Given the description of an element on the screen output the (x, y) to click on. 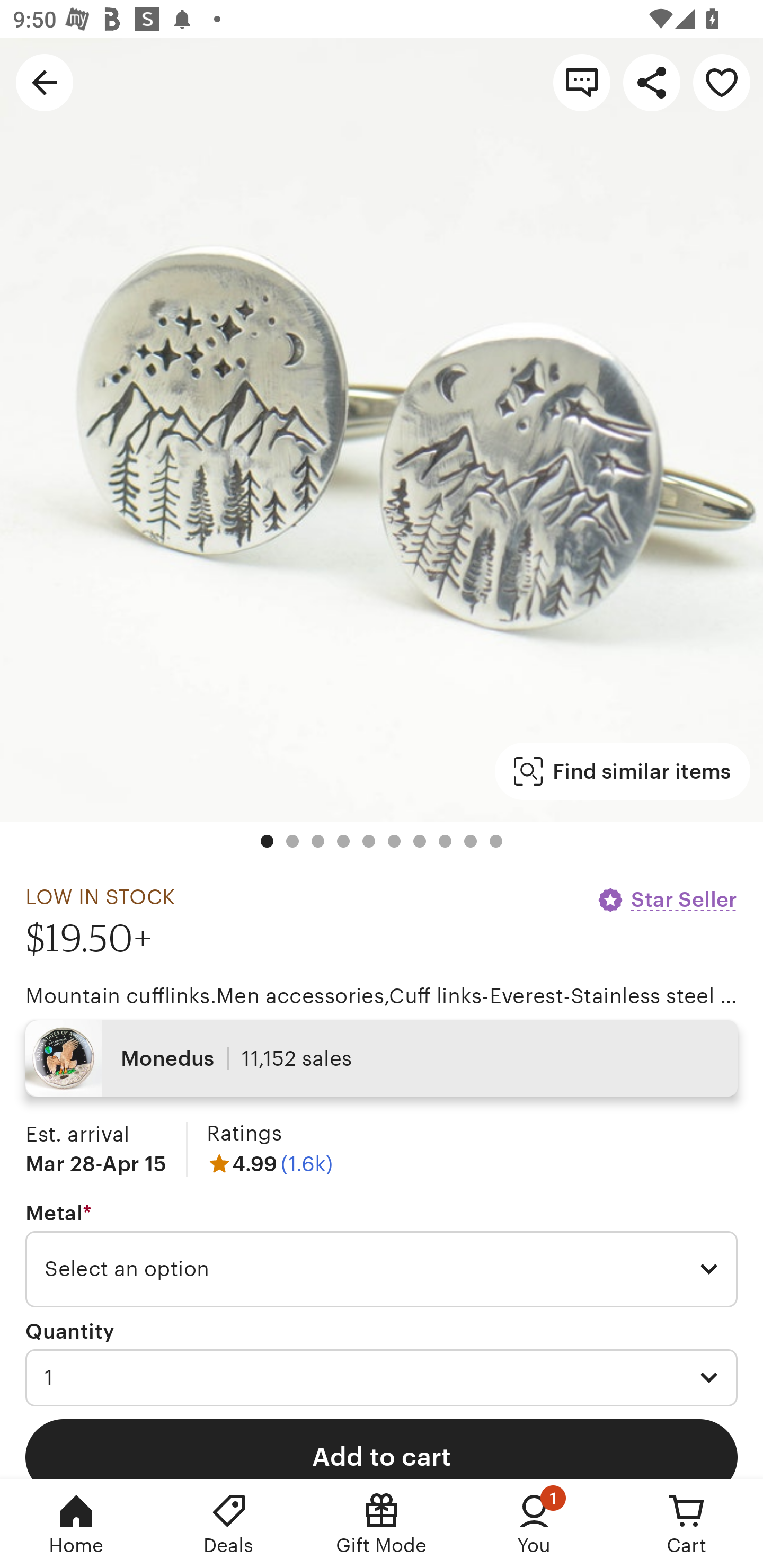
Navigate up (44, 81)
Contact shop (581, 81)
Share (651, 81)
Find similar items (622, 771)
Star Seller (666, 899)
Monedus 11,152 sales (381, 1058)
Ratings (243, 1133)
4.99 (1.6k) (269, 1163)
Metal * Required Select an option (381, 1254)
Select an option (381, 1268)
Quantity (70, 1331)
1 (381, 1377)
Add to cart (381, 1448)
Deals (228, 1523)
Gift Mode (381, 1523)
You, 1 new notification You (533, 1523)
Cart (686, 1523)
